Given the description of an element on the screen output the (x, y) to click on. 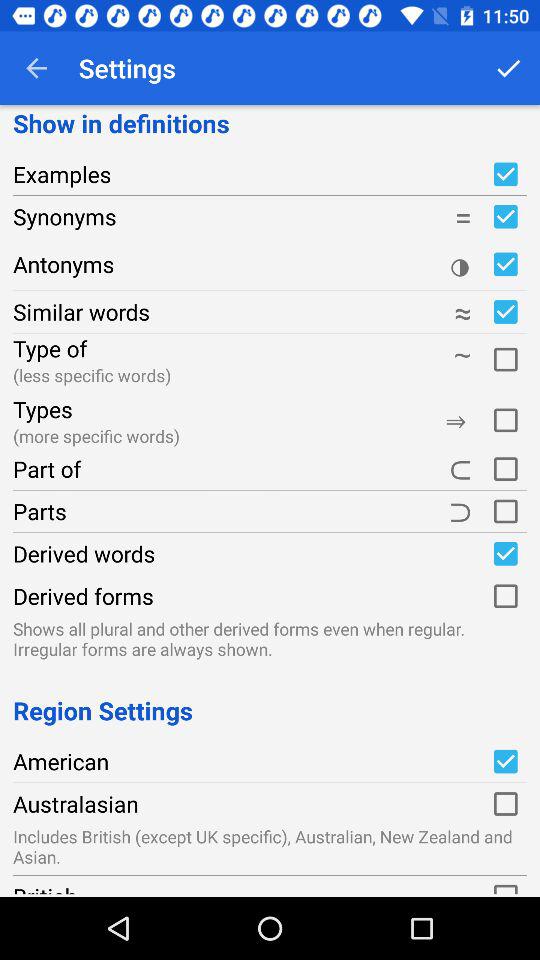
turn on item next to the show in definitions (508, 67)
